Given the description of an element on the screen output the (x, y) to click on. 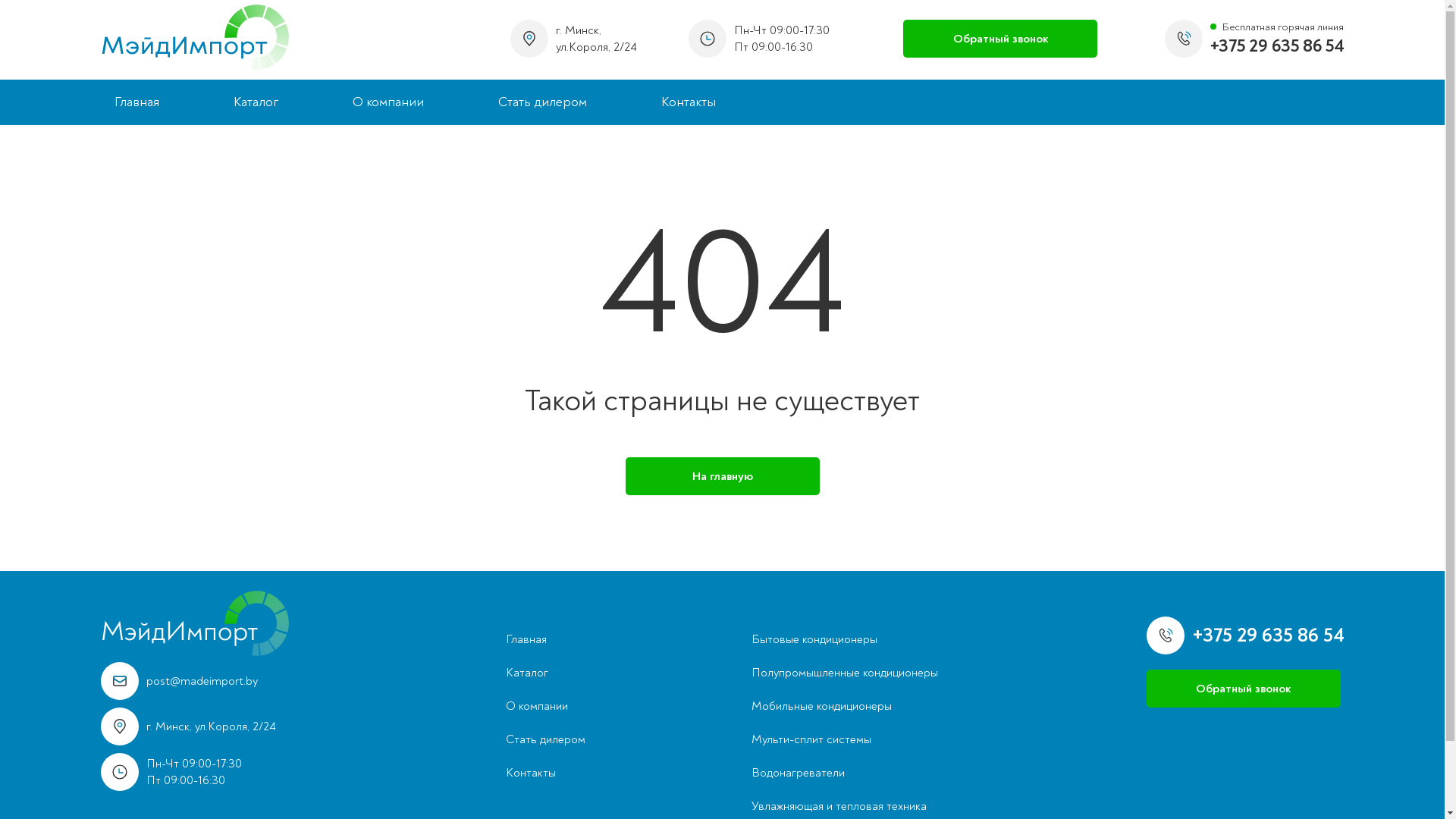
+375 29 635 86 54 Element type: text (1268, 635)
post@madeimport.by Element type: text (198, 680)
+375 29 635 86 54 Element type: text (1277, 45)
